Given the description of an element on the screen output the (x, y) to click on. 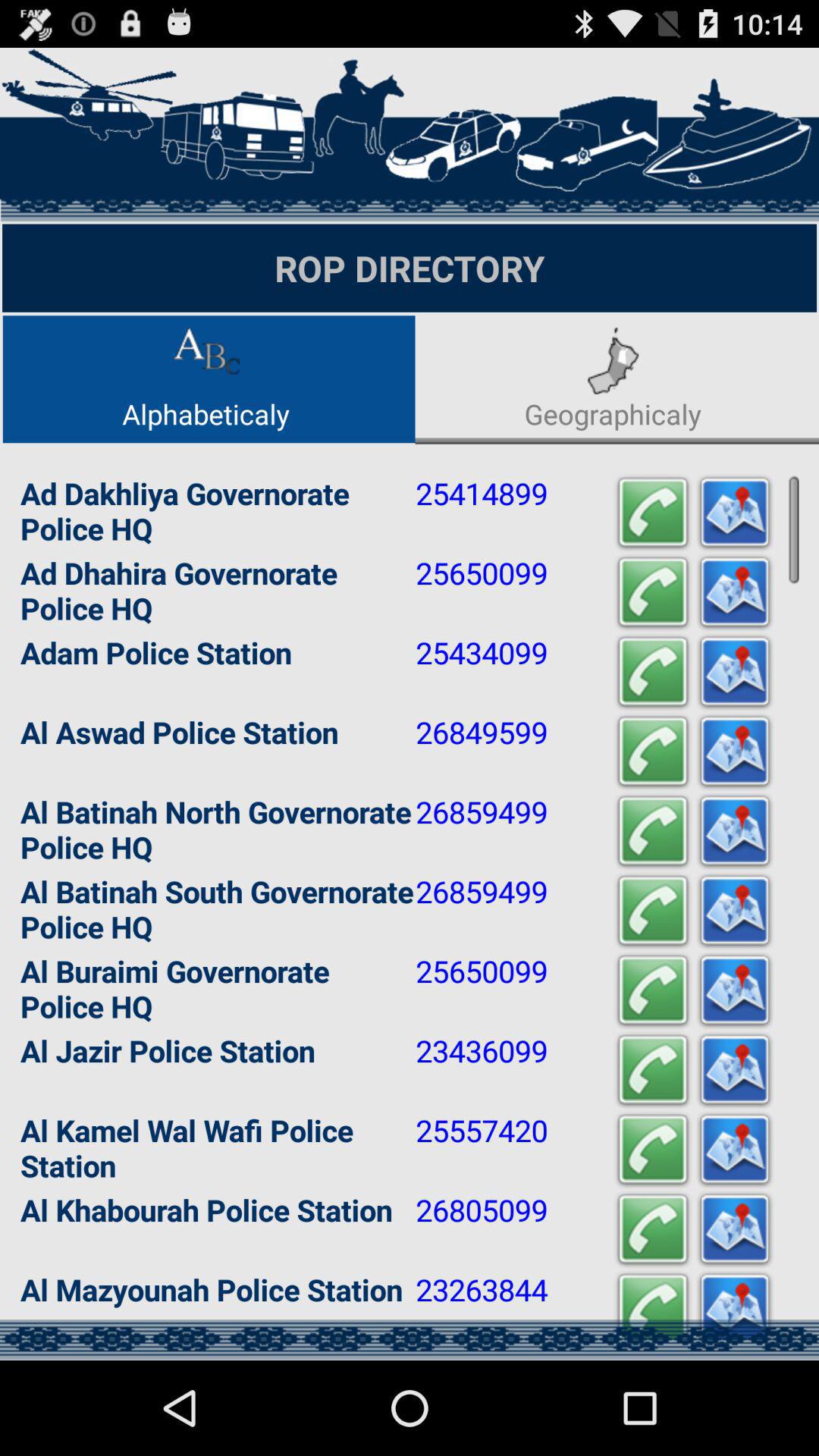
show on map (734, 751)
